Given the description of an element on the screen output the (x, y) to click on. 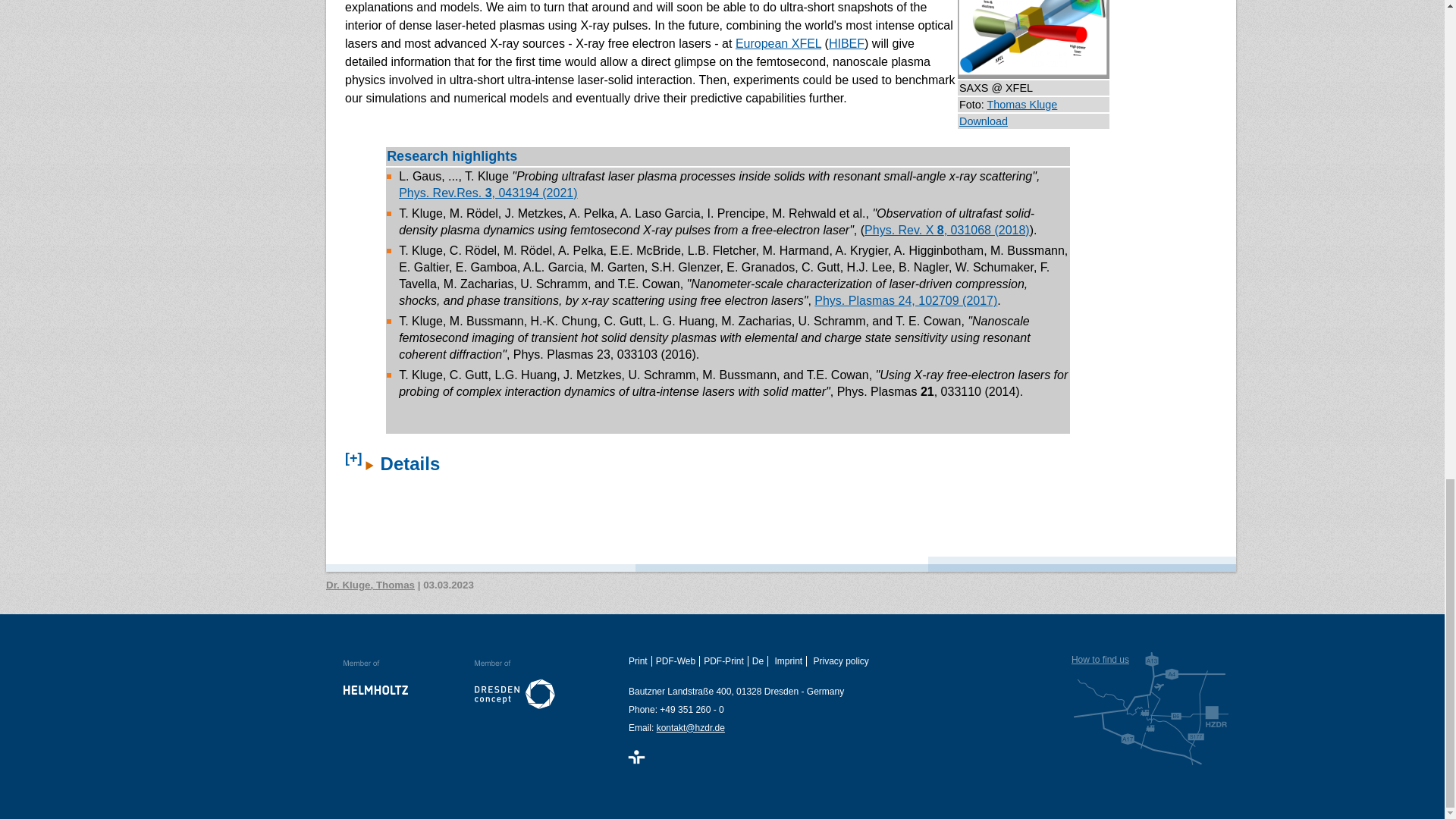
PDF-Web-Version (678, 661)
Print-Version (640, 661)
Deutsche Version (760, 661)
PDF-Print-Version (725, 661)
How to find us (1150, 708)
